Given the description of an element on the screen output the (x, y) to click on. 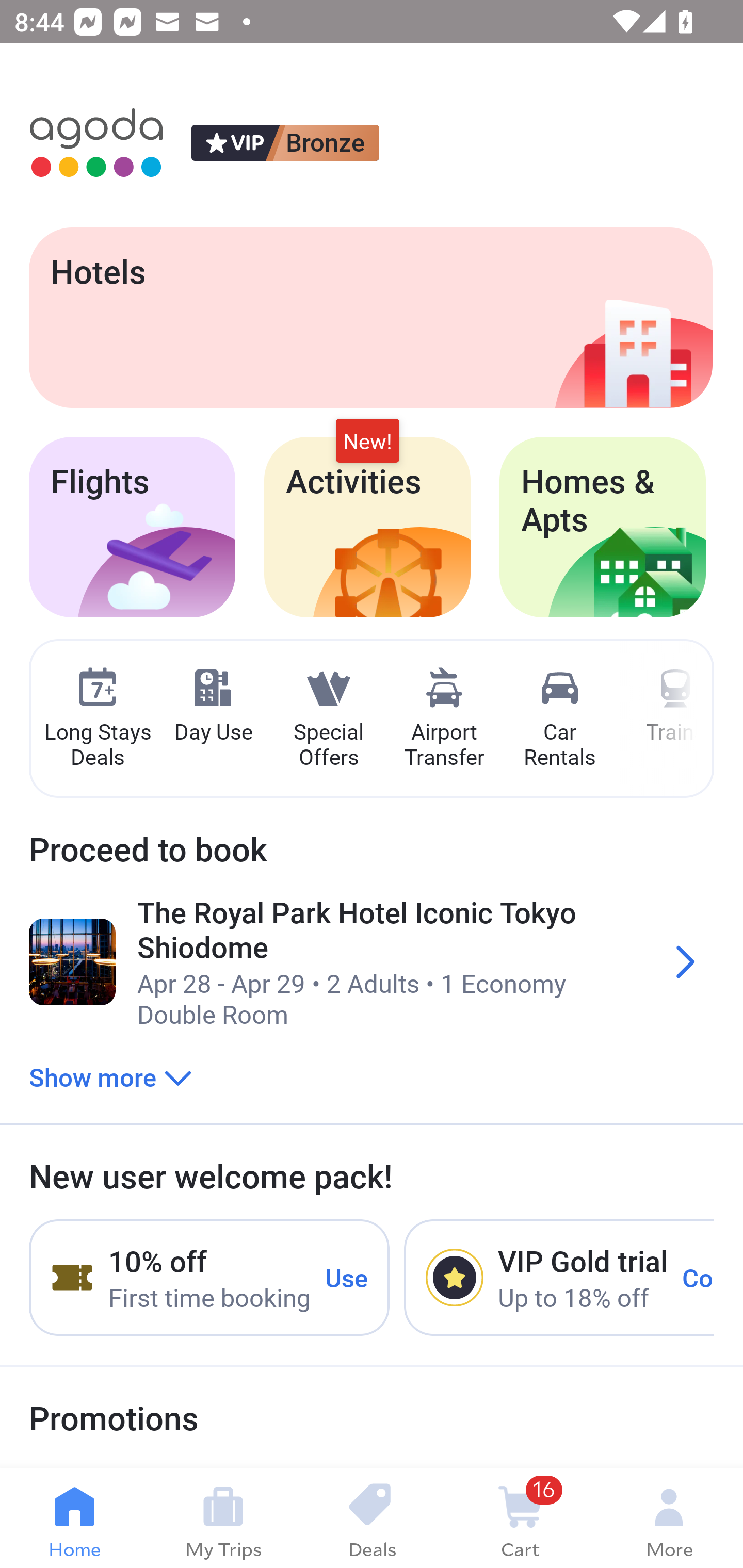
Hotels (370, 317)
New! (367, 441)
Flights (131, 527)
Activities (367, 527)
Homes & Apts (602, 527)
Day Use (213, 706)
Long Stays Deals (97, 718)
Special Offers (328, 718)
Airport Transfer (444, 718)
Car Rentals (559, 718)
Show more (110, 1076)
Use (346, 1277)
Home (74, 1518)
My Trips (222, 1518)
Deals (371, 1518)
16 Cart (519, 1518)
More (668, 1518)
